Given the description of an element on the screen output the (x, y) to click on. 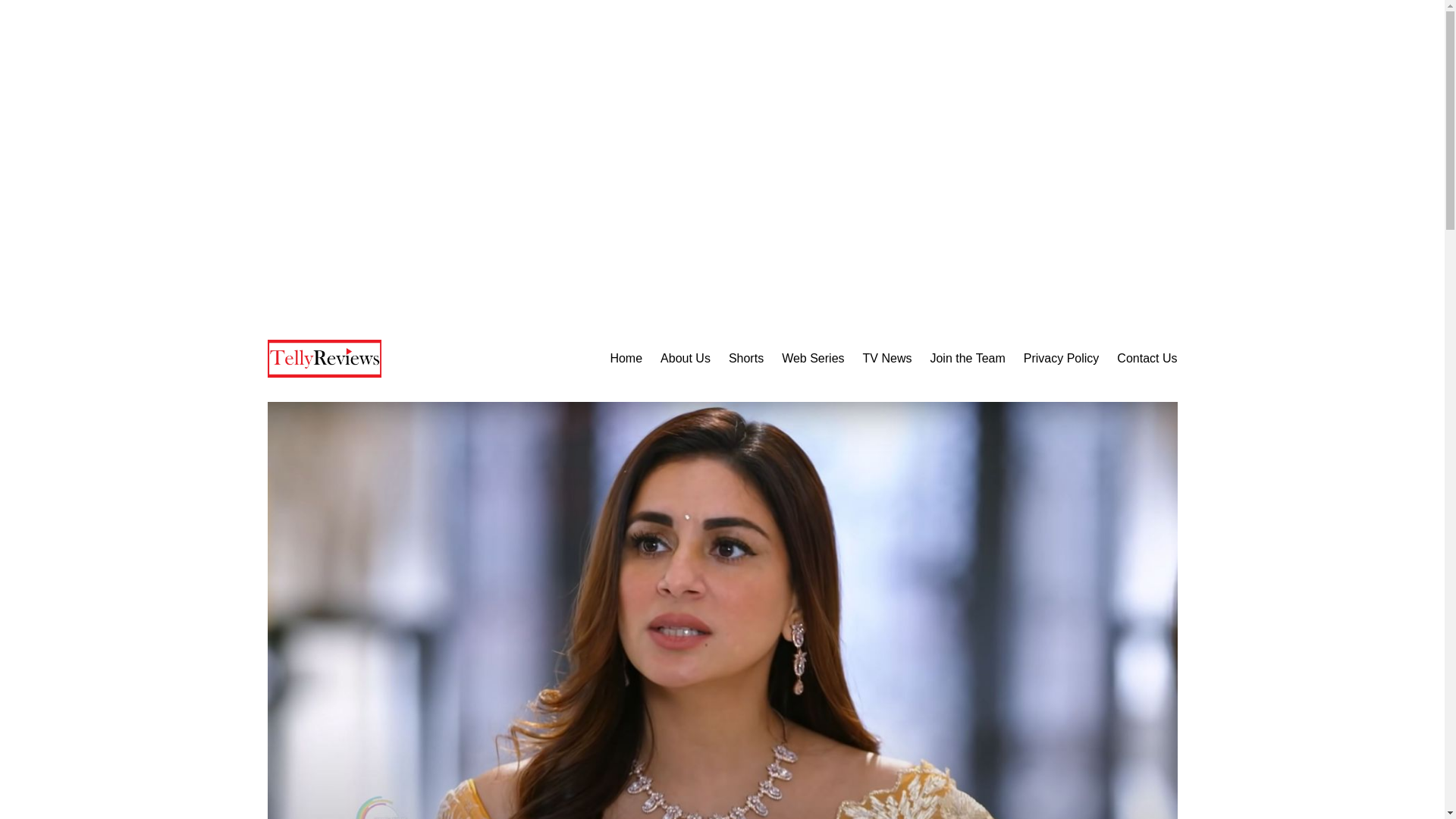
TV News (887, 358)
Home (626, 358)
Contact Us (1146, 358)
Join the Team (967, 358)
Privacy Policy (1061, 358)
About Us (685, 358)
Web Series (812, 358)
Shorts (745, 358)
